Given the description of an element on the screen output the (x, y) to click on. 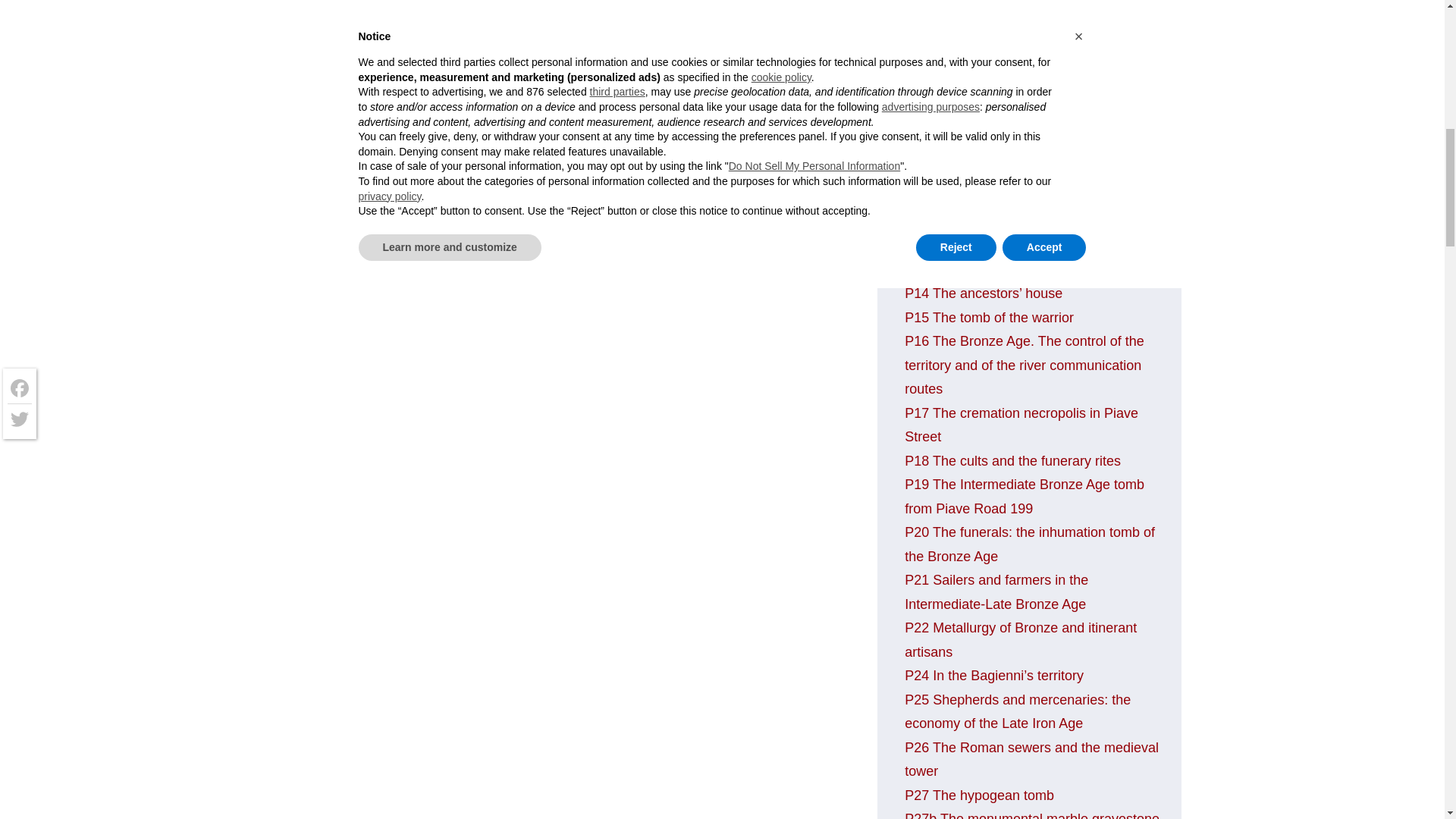
P11 The booming of the Neolithic economy. (1005, 138)
P8 The river Tanaro and its geological environment (1019, 7)
